Given the description of an element on the screen output the (x, y) to click on. 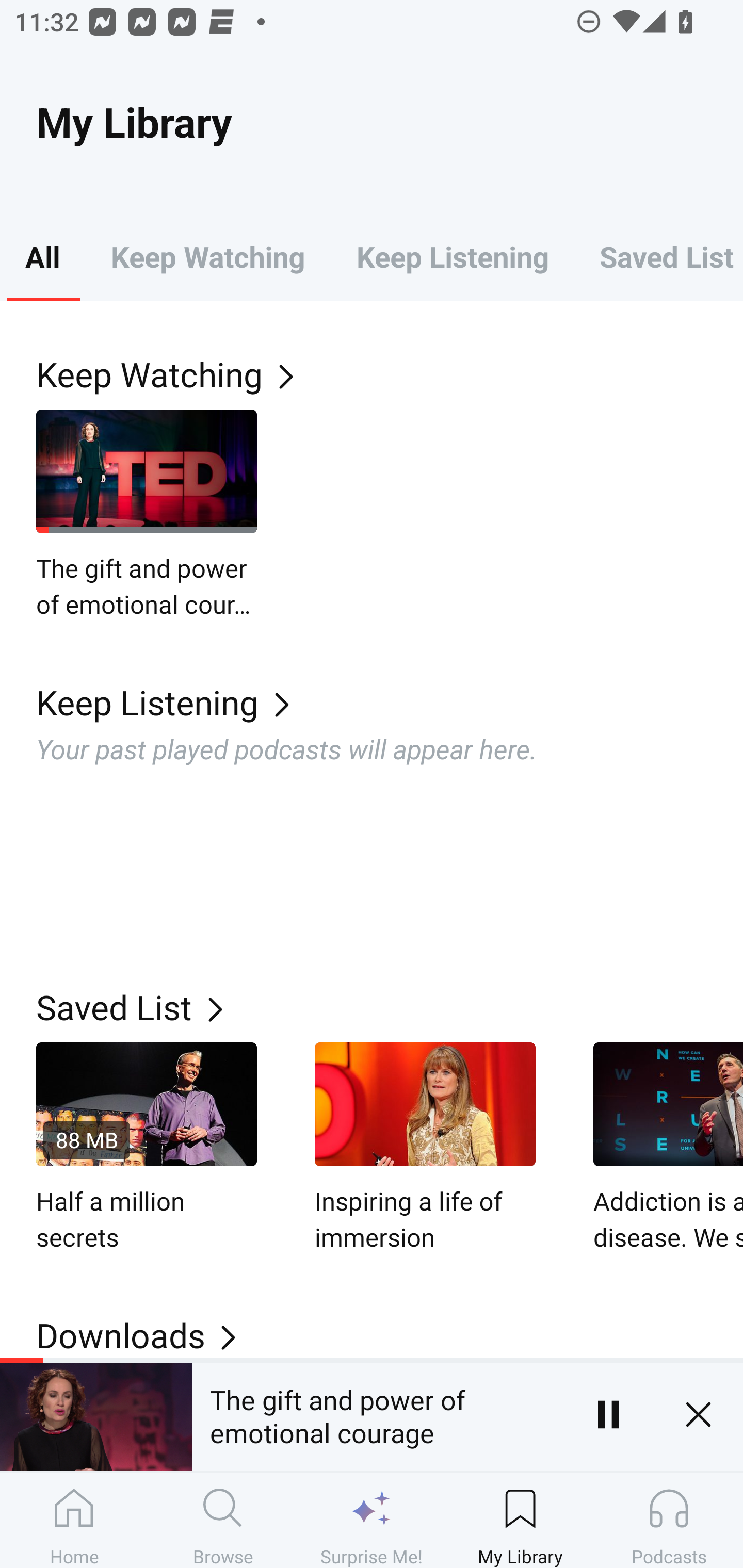
All (42, 256)
Keep Watching (207, 256)
Keep Listening (452, 256)
Saved List (658, 256)
Keep Watching (389, 373)
The gift and power of emotional courage (146, 514)
Keep Listening (389, 702)
Saved List (389, 1007)
88 MB Half a million secrets (146, 1148)
Inspiring a life of immersion (425, 1148)
Downloads (389, 1334)
The gift and power of emotional courage (377, 1413)
Home (74, 1520)
Browse (222, 1520)
Surprise Me! (371, 1520)
My Library (519, 1520)
Podcasts (668, 1520)
